Given the description of an element on the screen output the (x, y) to click on. 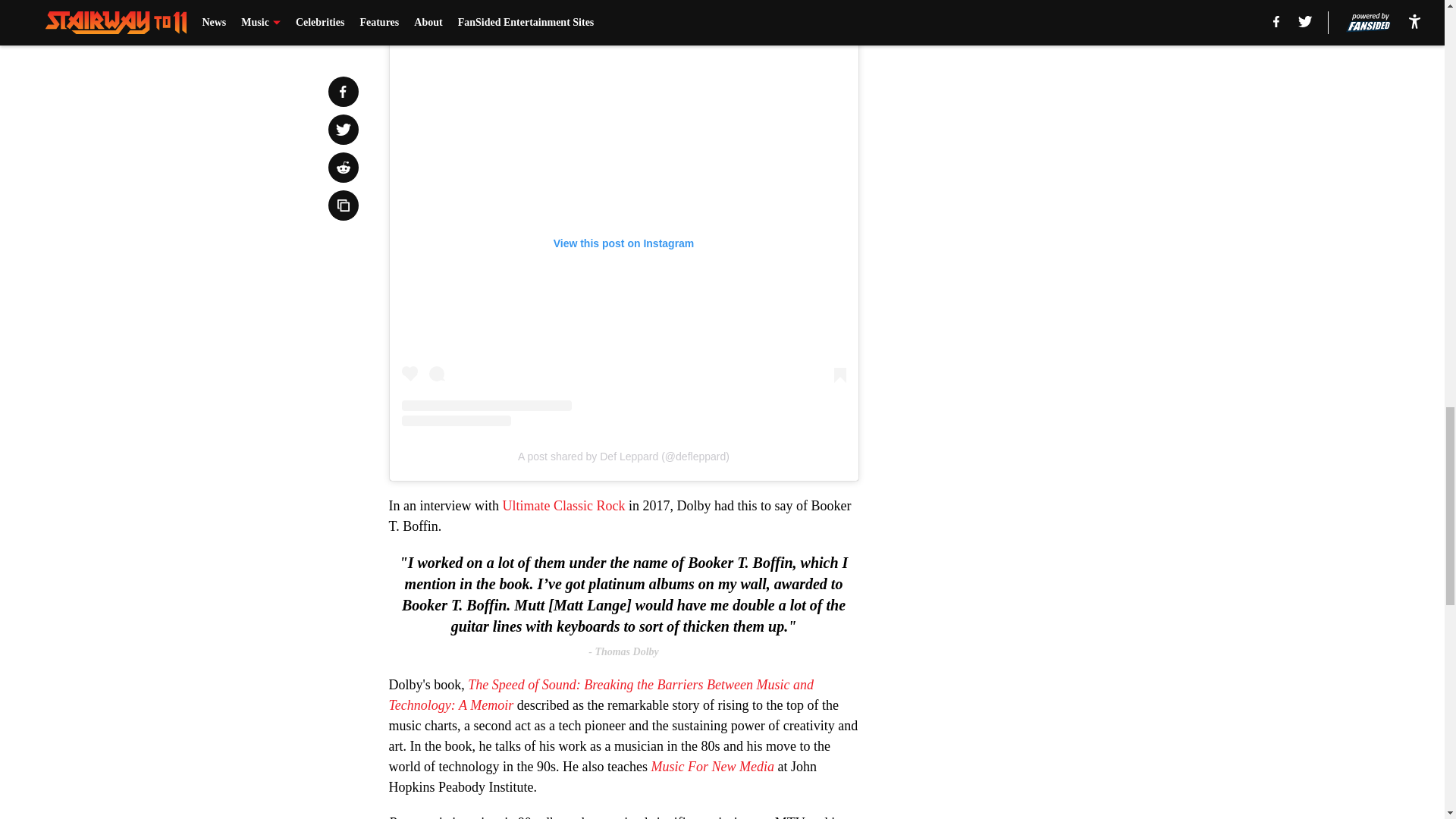
Ultimate Classic Rock (564, 505)
Music For New Media (712, 766)
